Given the description of an element on the screen output the (x, y) to click on. 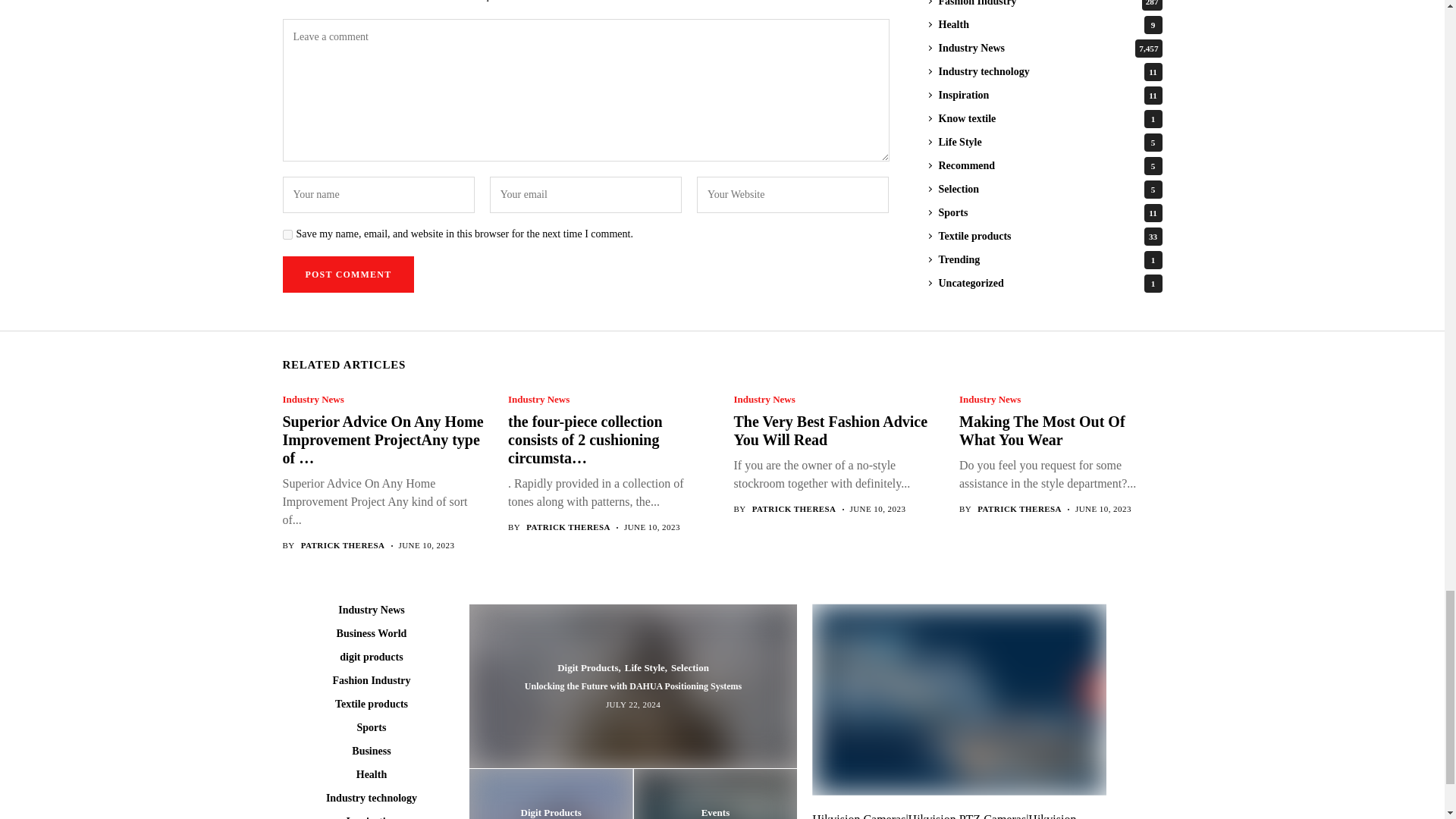
Posts by Patrick Theresa (567, 527)
Posts by Patrick Theresa (793, 509)
yes (287, 234)
Post Comment (347, 274)
Posts by Patrick Theresa (343, 545)
Posts by Patrick Theresa (1018, 509)
